Given the description of an element on the screen output the (x, y) to click on. 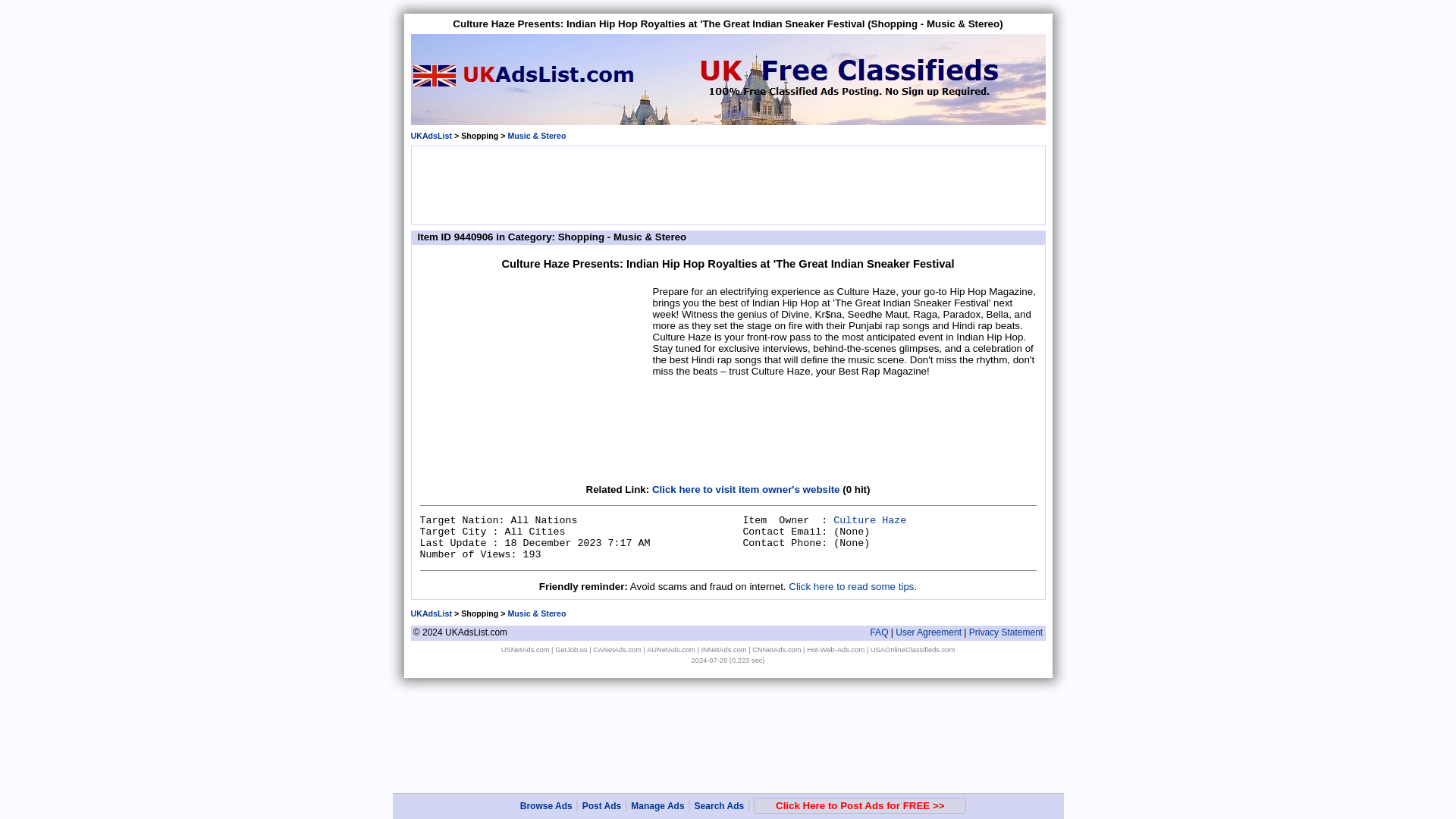
CANetAds.com (617, 649)
USNetAds.com (525, 649)
Culture Haze (868, 520)
Click here to read some tips. (853, 586)
GetJob.us (571, 649)
Browse all items posted by this owner (868, 520)
Advertisement (533, 379)
Go Back to UKAdsList.com Home Page (430, 613)
Advertisement (727, 183)
AUNetAds.com (670, 649)
Privacy Statement (1005, 632)
UKAdsList (430, 135)
Click here to visit item owner's website (746, 489)
Hot-Web-Ads.com (835, 649)
FAQ (878, 632)
